Given the description of an element on the screen output the (x, y) to click on. 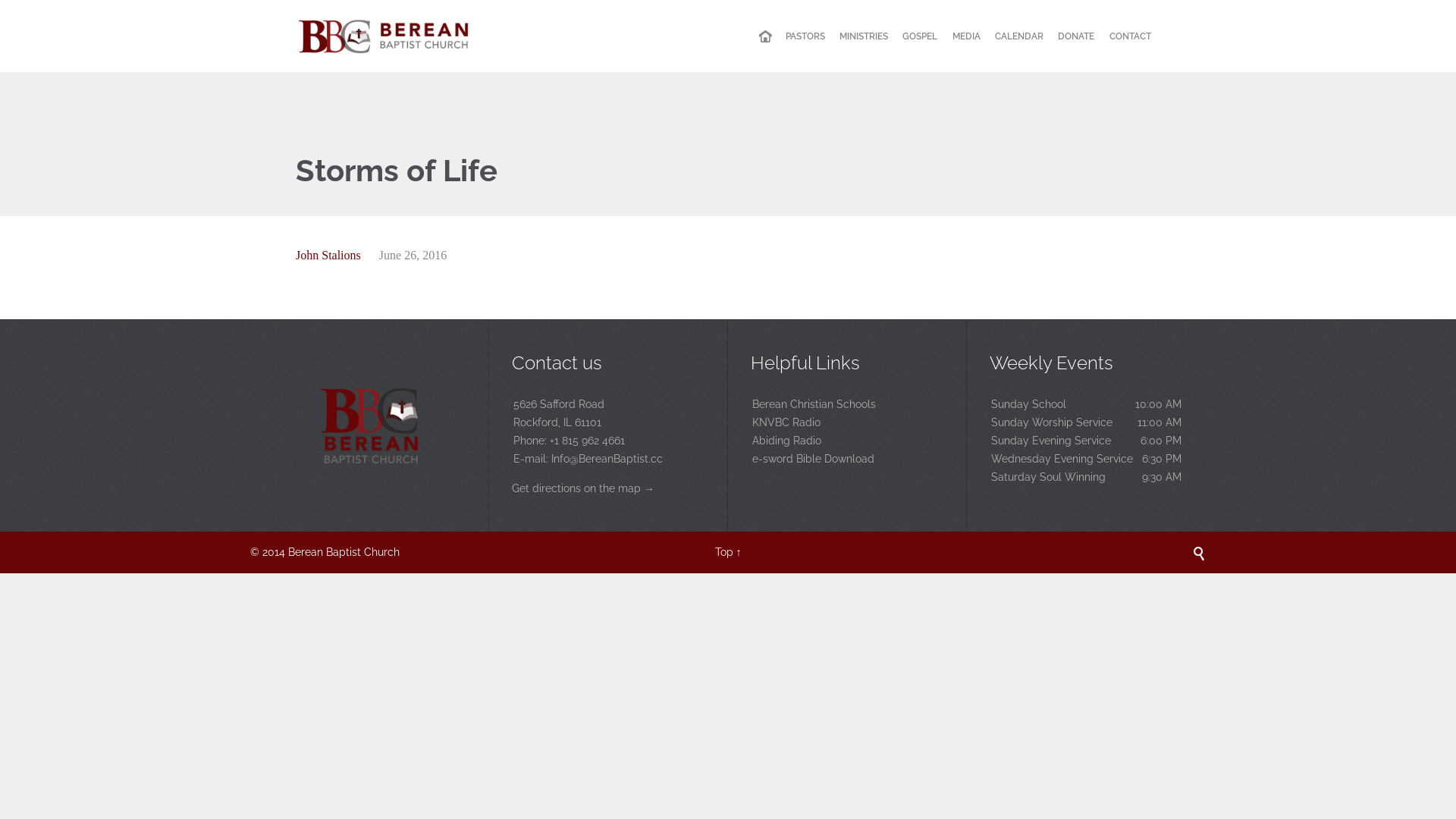
MINISTRIES Element type: text (863, 36)
e-sword Bible Download Element type: text (846, 458)
DONATE Element type: text (1075, 36)
Top Element type: text (723, 552)
Berean Christian Schools Element type: text (846, 404)
Info@BereanBaptist.cc Element type: text (606, 458)
GOSPEL Element type: text (919, 36)
Get directions on the map Element type: text (575, 488)
John Stalions Element type: text (327, 254)
Abiding Radio Element type: text (846, 440)
Skip to content Element type: text (1159, 19)
Berean Baptist Church Element type: hover (383, 36)
CALENDAR Element type: text (1018, 36)
MEDIA Element type: text (965, 36)
PASTORS Element type: text (804, 36)
KNVBC Radio Element type: text (846, 422)
CONTACT Element type: text (1130, 36)
